Given the description of an element on the screen output the (x, y) to click on. 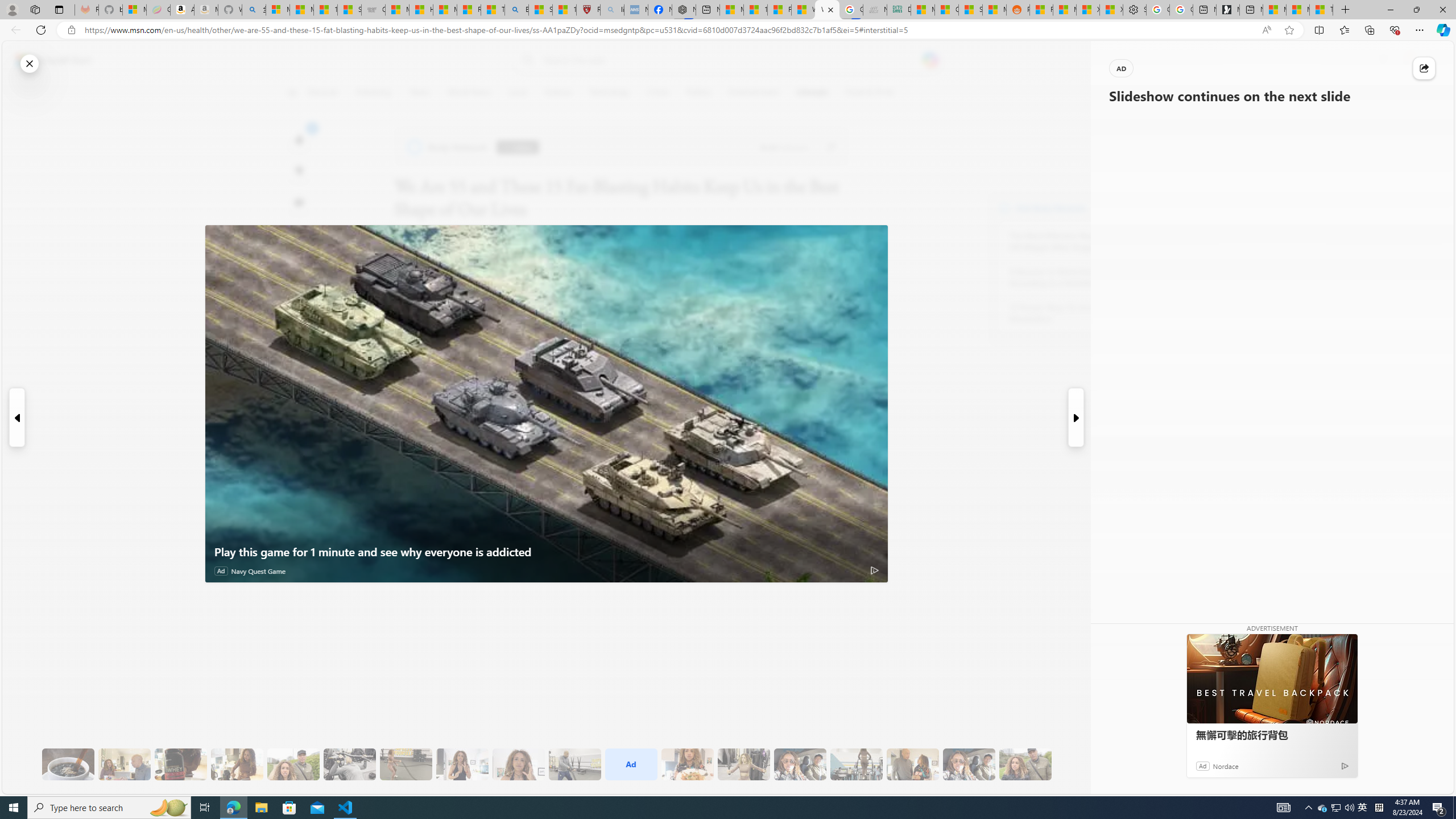
8 They Walk to the Gym (293, 764)
Body Network (449, 147)
19 It Also Simplifies Thiings (968, 764)
18 It's More Fun Doing It with Someone Else (912, 764)
